Given the description of an element on the screen output the (x, y) to click on. 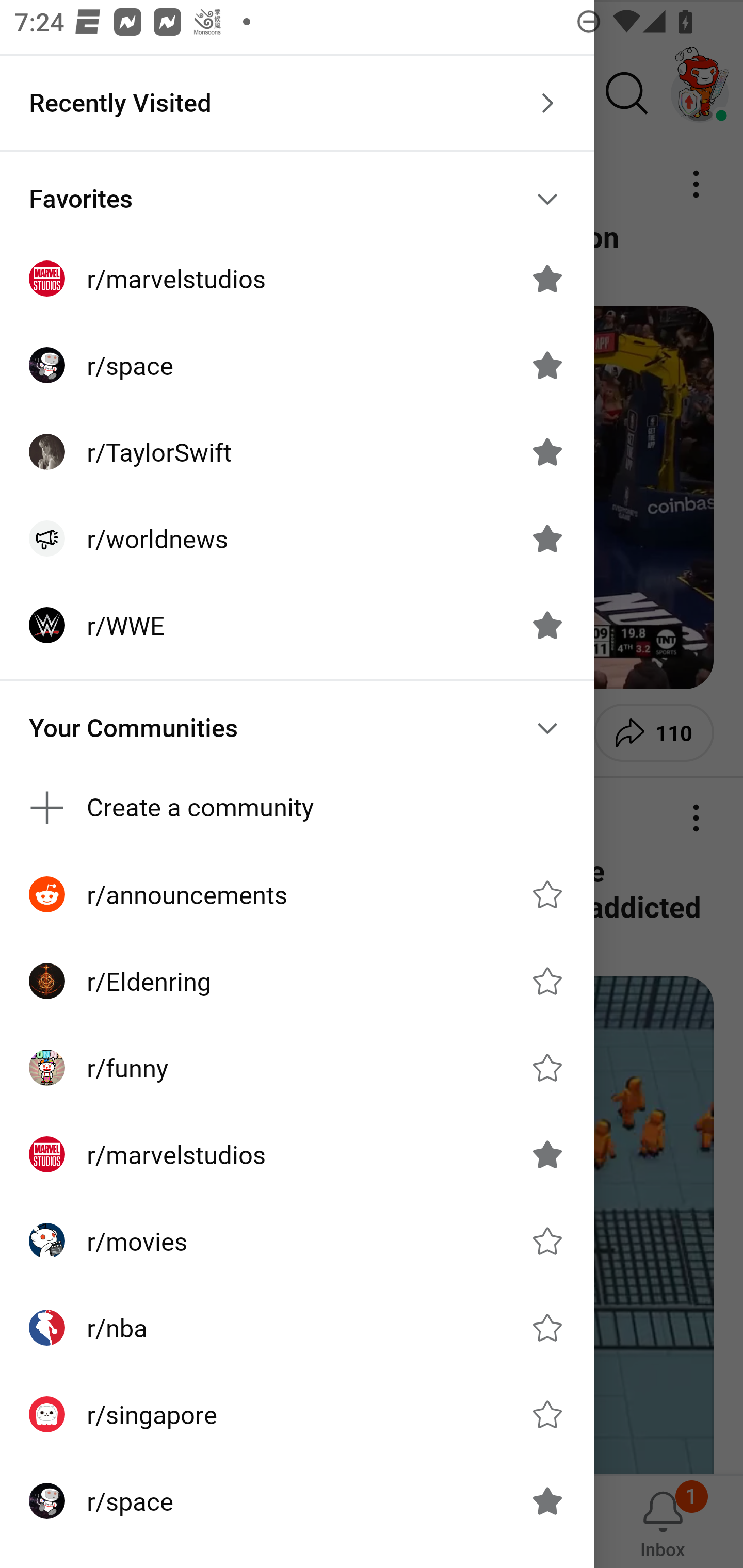
Recently Visited (297, 103)
Favorites (297, 199)
r/marvelstudios Unfavorite r/marvelstudios (297, 278)
Unfavorite r/marvelstudios (546, 278)
r/space Unfavorite r/space (297, 365)
Unfavorite r/space (546, 365)
r/TaylorSwift Unfavorite r/TaylorSwift (297, 452)
Unfavorite r/TaylorSwift (546, 451)
r/worldnews Unfavorite r/worldnews (297, 538)
Unfavorite r/worldnews (546, 538)
r/WWE Unfavorite r/WWE (297, 624)
Unfavorite r/WWE (546, 624)
Your Communities (297, 728)
Create a community (297, 808)
r/announcements Favorite r/announcements (297, 894)
Favorite r/announcements (546, 894)
r/Eldenring Favorite r/Eldenring (297, 980)
Favorite r/Eldenring (546, 980)
r/funny Favorite r/funny (297, 1067)
Favorite r/funny (546, 1067)
r/marvelstudios Unfavorite r/marvelstudios (297, 1154)
Unfavorite r/marvelstudios (546, 1154)
r/movies Favorite r/movies (297, 1240)
Favorite r/movies (546, 1241)
r/nba Favorite r/nba (297, 1327)
Favorite r/nba (546, 1327)
r/singapore Favorite r/singapore (297, 1414)
Favorite r/singapore (546, 1414)
r/space Unfavorite r/space (297, 1501)
Unfavorite r/space (546, 1501)
